Given the description of an element on the screen output the (x, y) to click on. 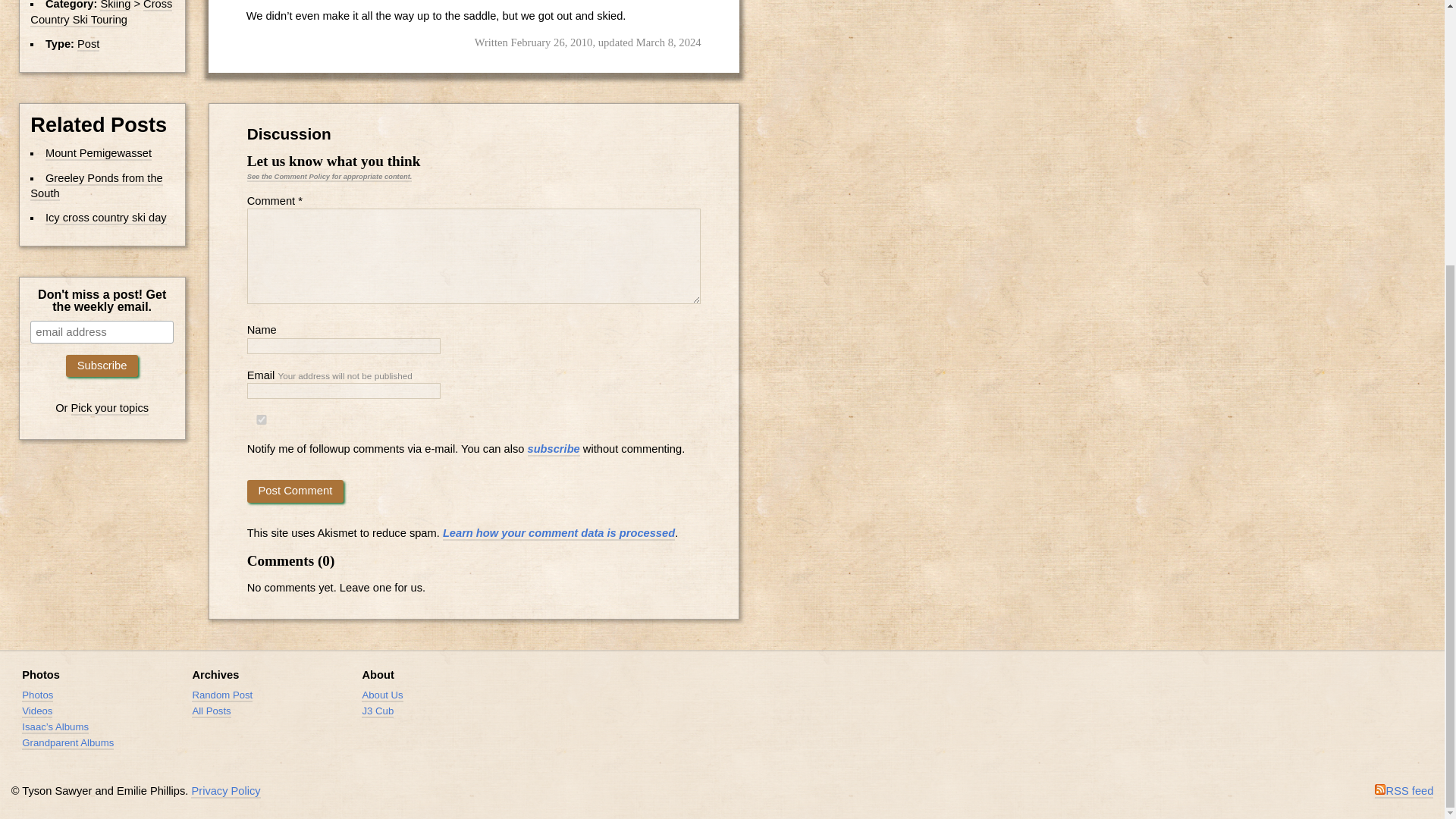
Post Comment (295, 490)
Subscribe (101, 365)
Pick your topics (110, 408)
Photos (36, 695)
Mount Pemigewasset (98, 153)
Grandparent Albums (67, 743)
Post (88, 44)
Post Comment (295, 490)
subscribe (553, 449)
Greeley Ponds from the South (95, 186)
Videos (36, 711)
yes (261, 419)
Photos (40, 674)
Archives (215, 674)
Cross Country Ski Touring (100, 13)
